Given the description of an element on the screen output the (x, y) to click on. 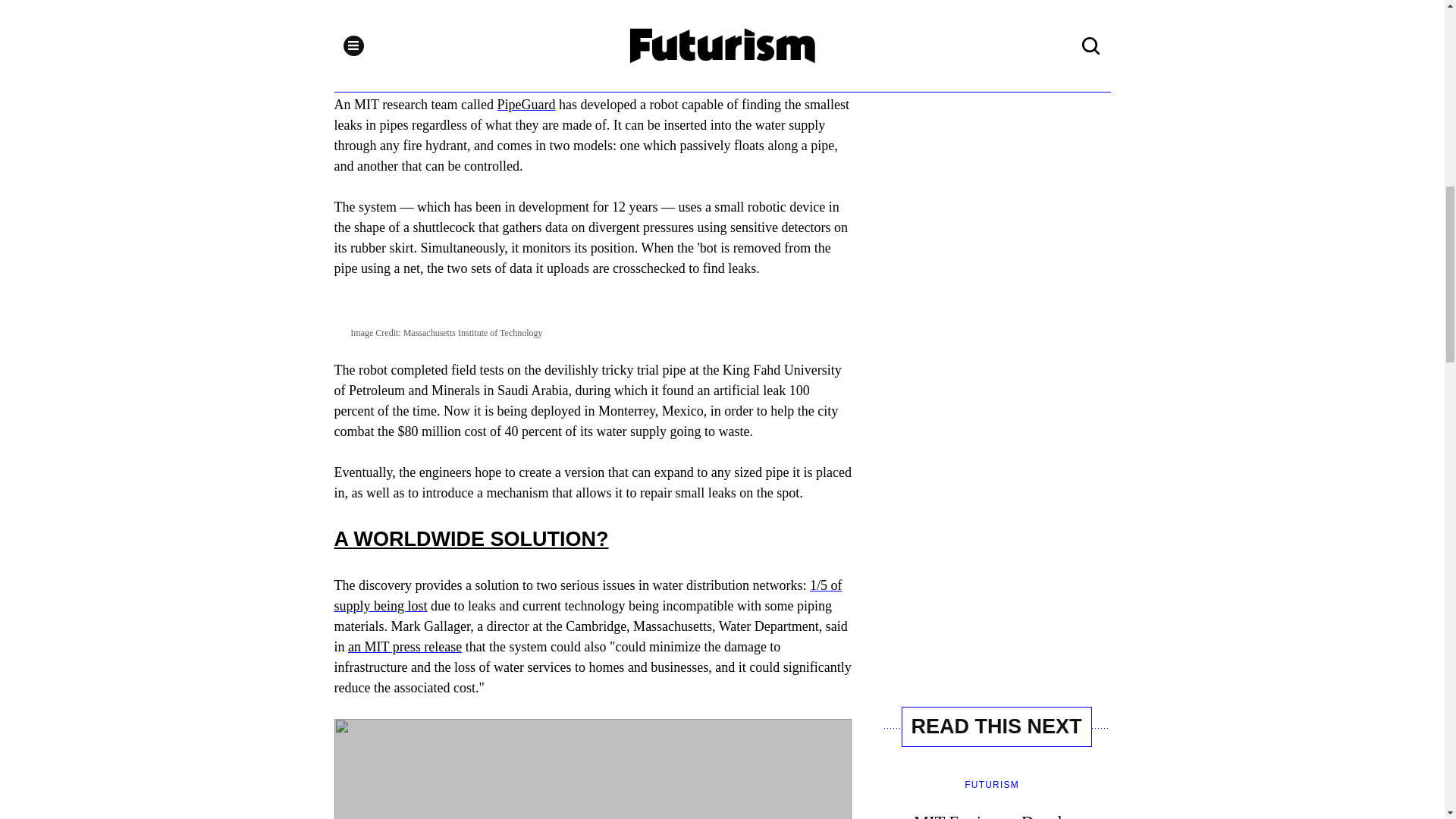
an MIT press release (404, 646)
MIT Engineers Develop Glowing Plants Using Nanoparticles (996, 798)
PipeGuard (526, 104)
Pixabay (383, 5)
Pixabay (383, 5)
